Given the description of an element on the screen output the (x, y) to click on. 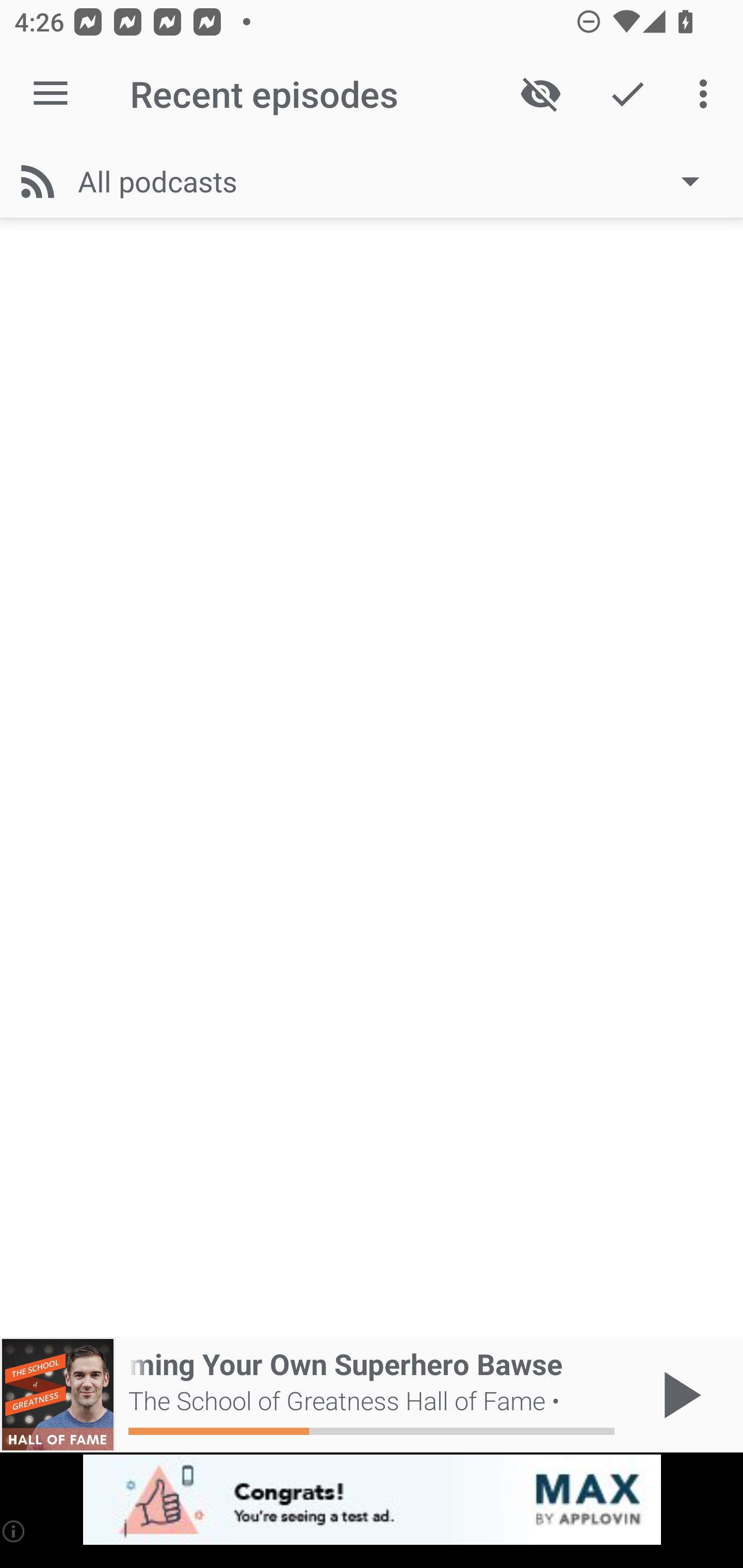
Open navigation sidebar (50, 93)
Show / Hide played content (540, 93)
Action Mode (626, 93)
More options (706, 93)
All podcasts (398, 180)
Play / Pause (677, 1394)
app-monetization (371, 1500)
(i) (14, 1531)
